Given the description of an element on the screen output the (x, y) to click on. 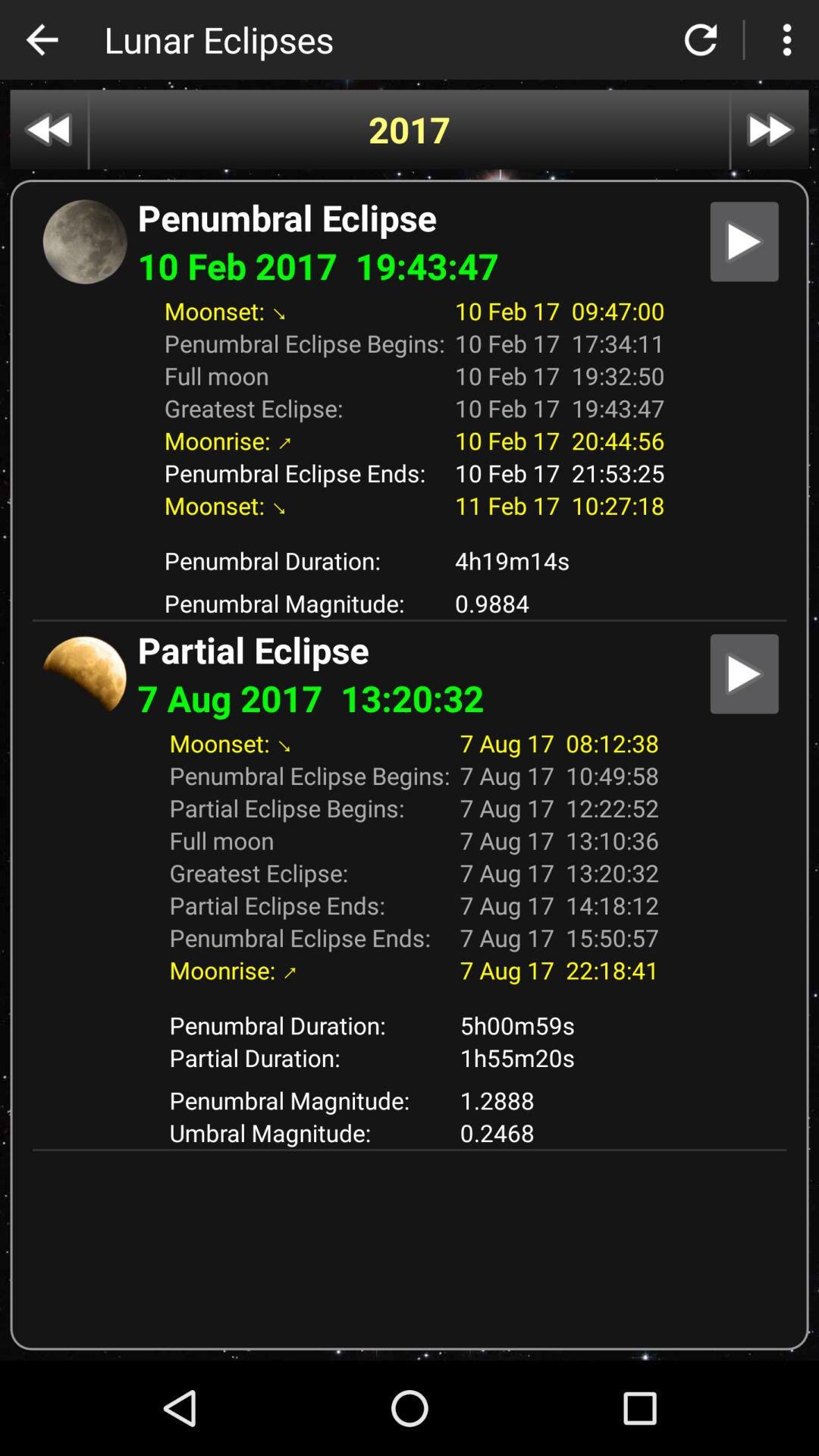
choose 1.2888 (559, 1100)
